Given the description of an element on the screen output the (x, y) to click on. 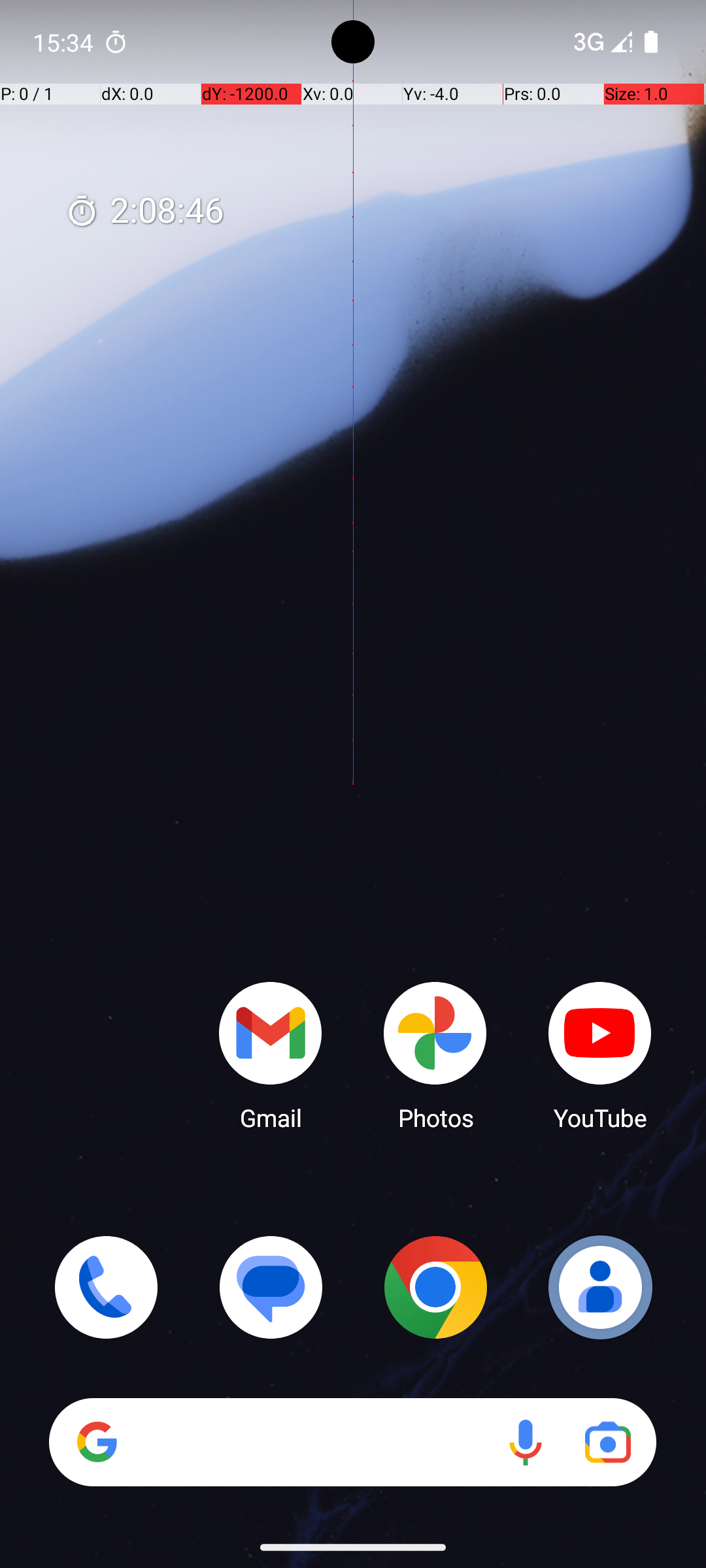
2:08:46 Element type: android.widget.TextView (144, 210)
